Given the description of an element on the screen output the (x, y) to click on. 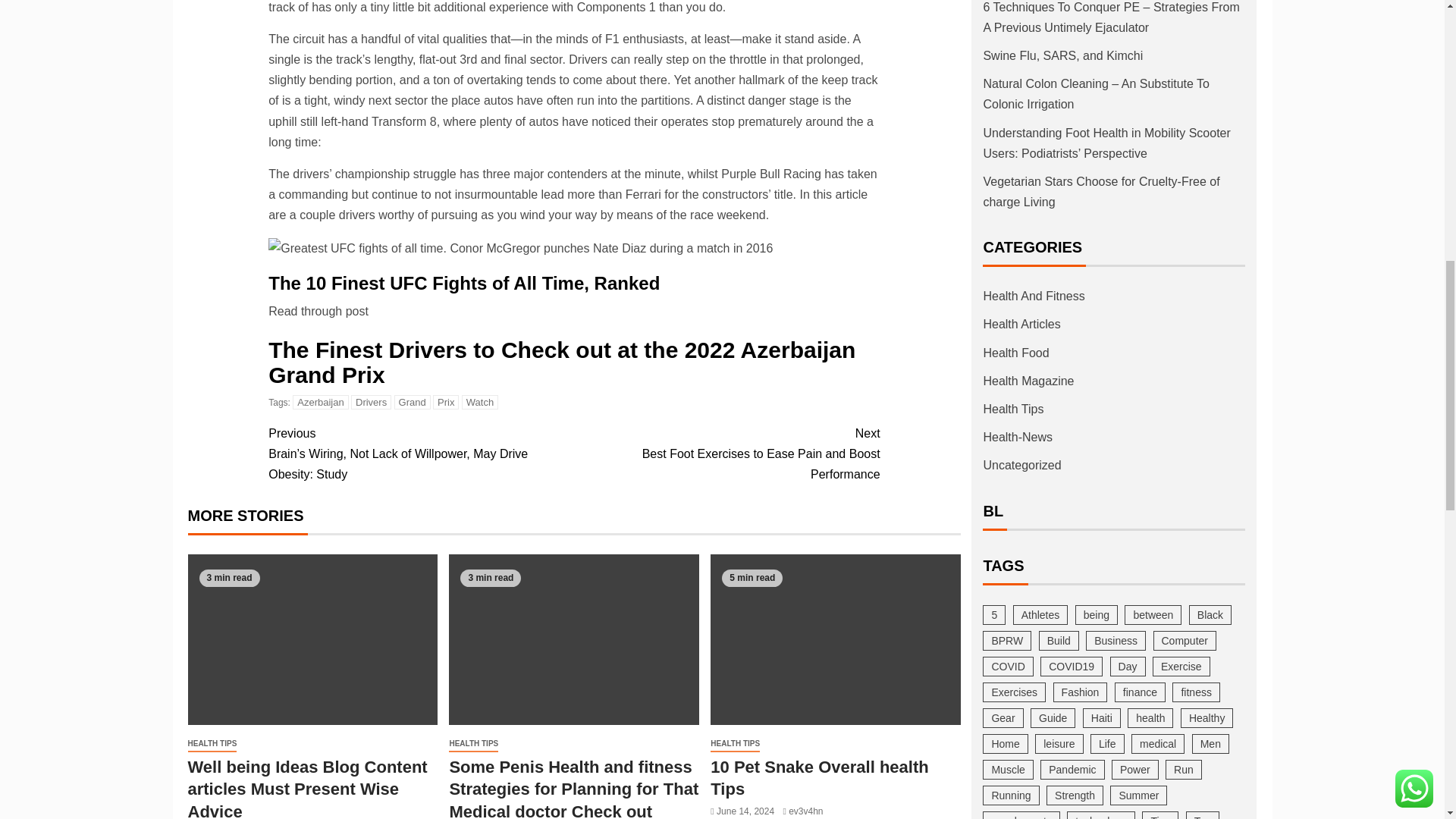
Azerbaijan (319, 400)
Drivers (370, 400)
